Given the description of an element on the screen output the (x, y) to click on. 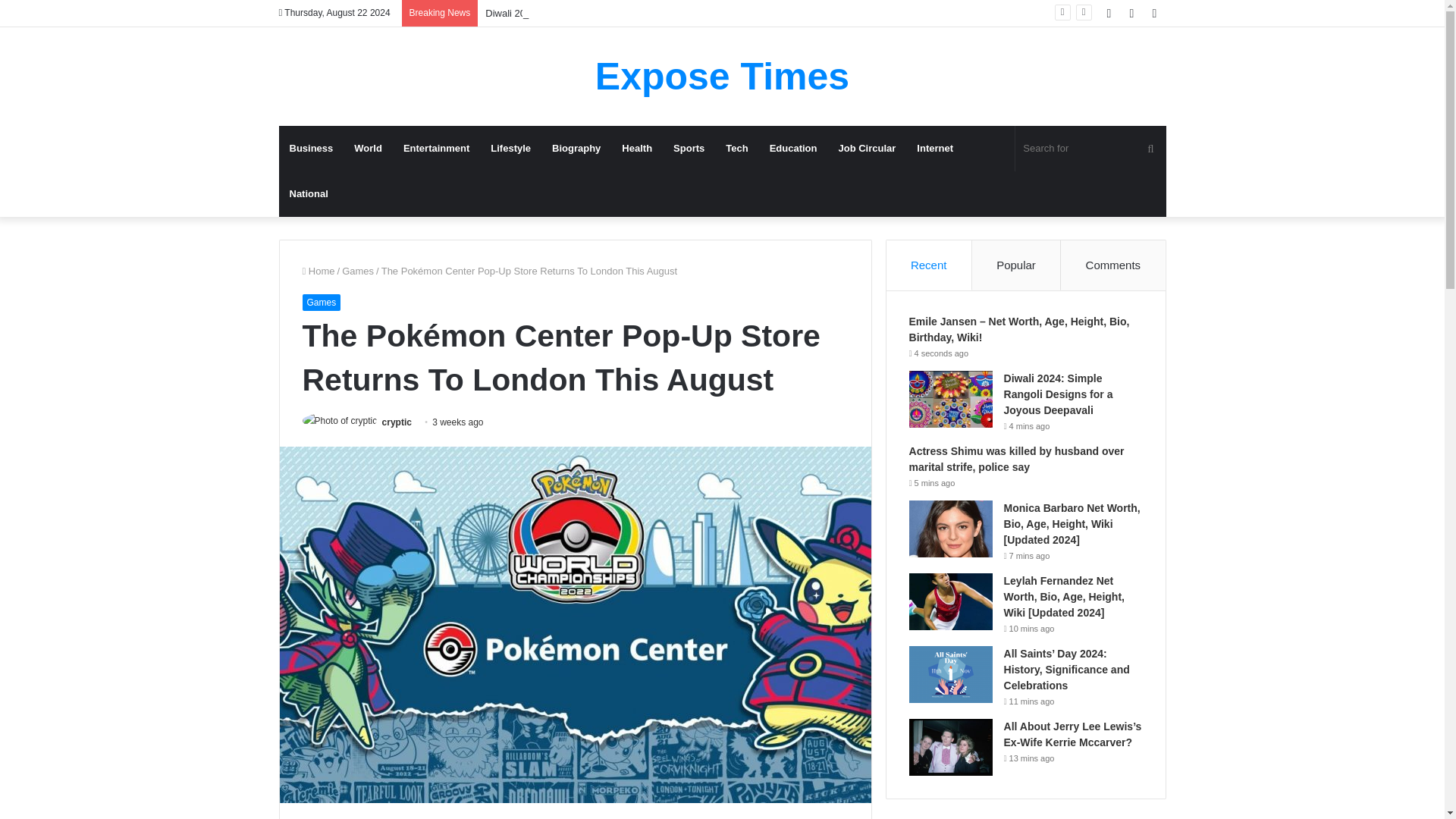
Home (317, 270)
Business (311, 148)
Entertainment (436, 148)
Job Circular (867, 148)
Sports (688, 148)
Internet (934, 148)
cryptic (396, 421)
Diwali 2024: Simple Rangoli Designs for a Joyous Deepavali (616, 12)
Games (358, 270)
Games (320, 302)
